Given the description of an element on the screen output the (x, y) to click on. 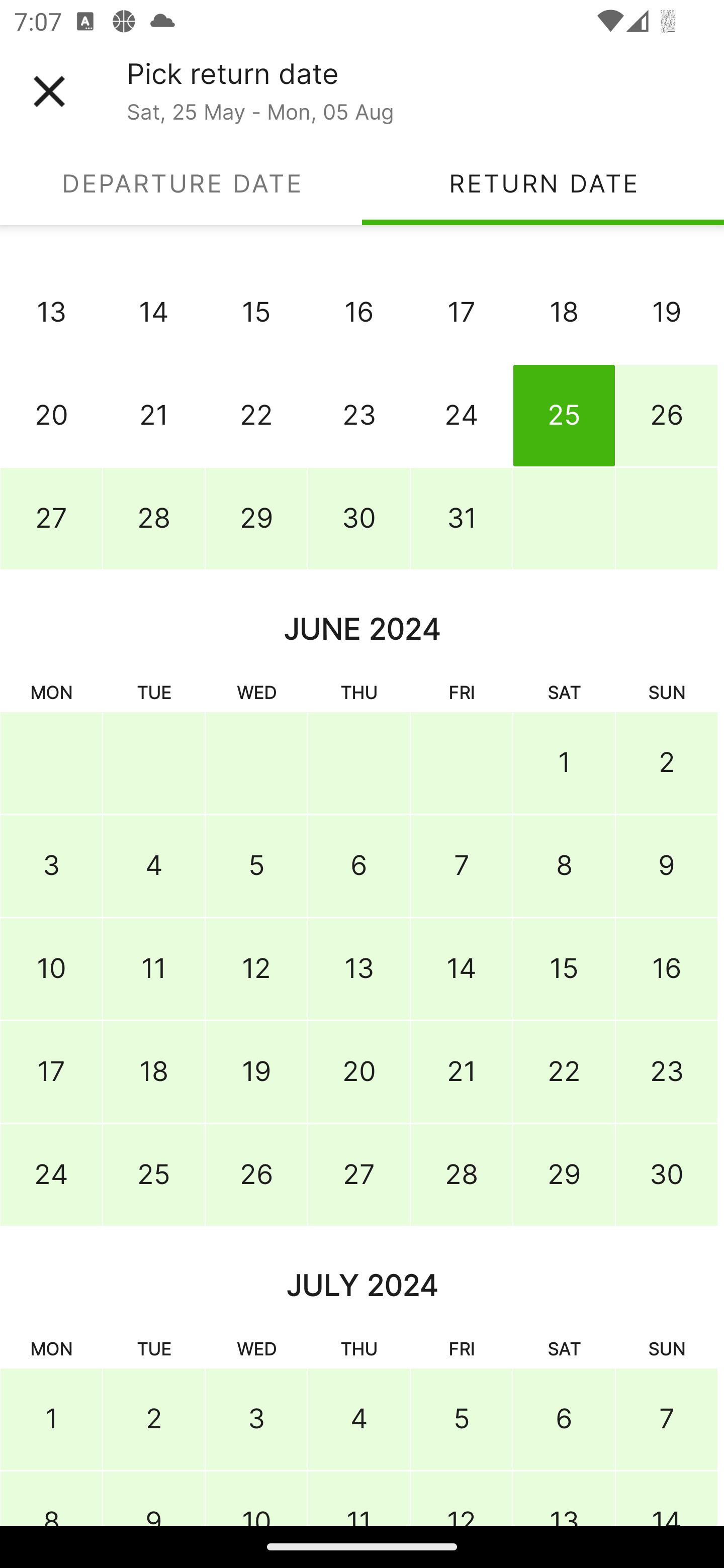
Departure Date DEPARTURE DATE (181, 183)
